Given the description of an element on the screen output the (x, y) to click on. 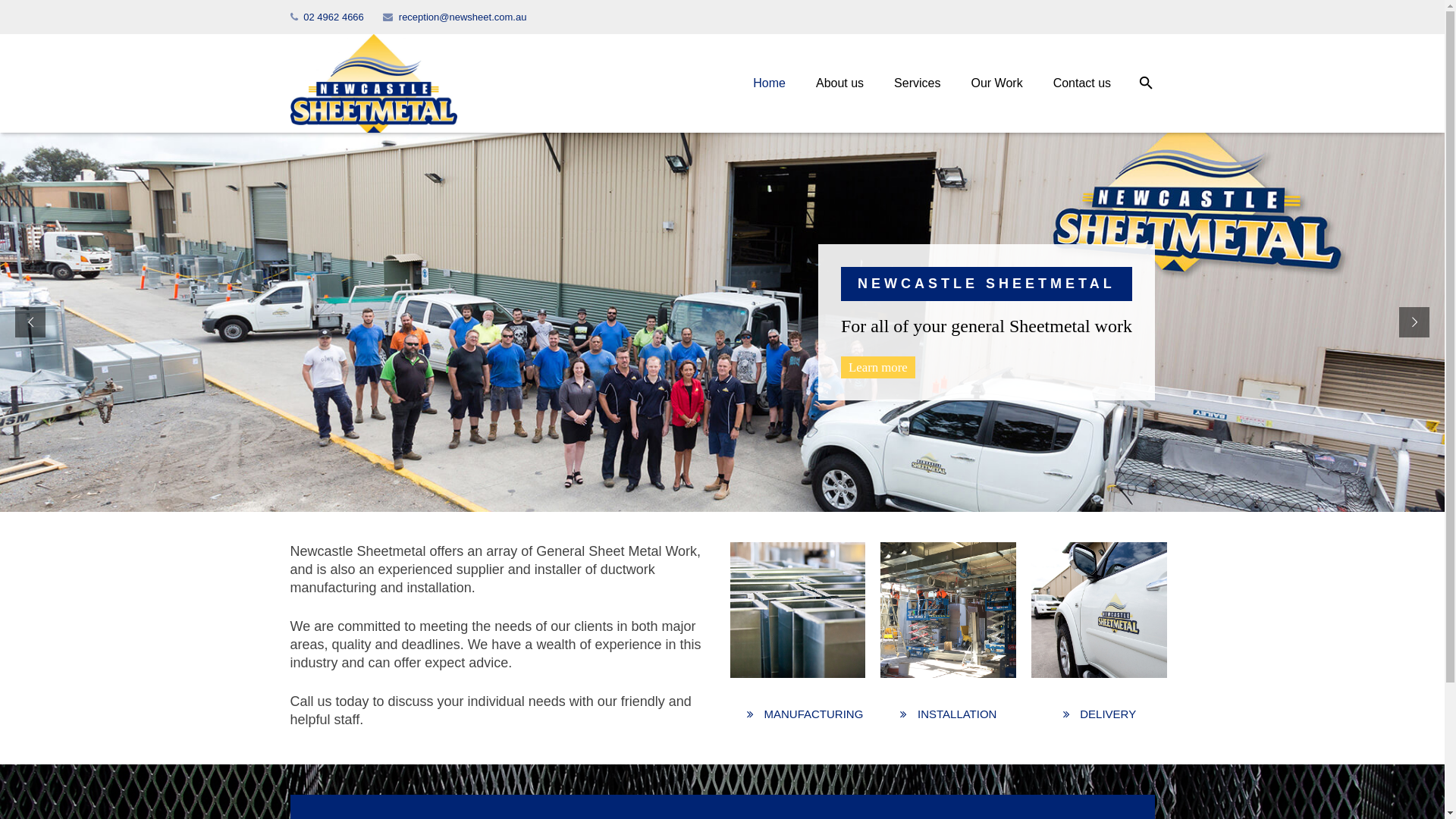
Contact us Element type: text (1082, 83)
DELIVERY Element type: text (1098, 714)
Home Element type: text (768, 83)
reception@newsheet.com.au Element type: text (462, 16)
About us Element type: text (839, 83)
Our Work Element type: text (996, 83)
Learn more Element type: text (877, 367)
Services Element type: text (916, 83)
MANUFACTURING Element type: text (804, 714)
INSTALLATION Element type: text (948, 714)
